Given the description of an element on the screen output the (x, y) to click on. 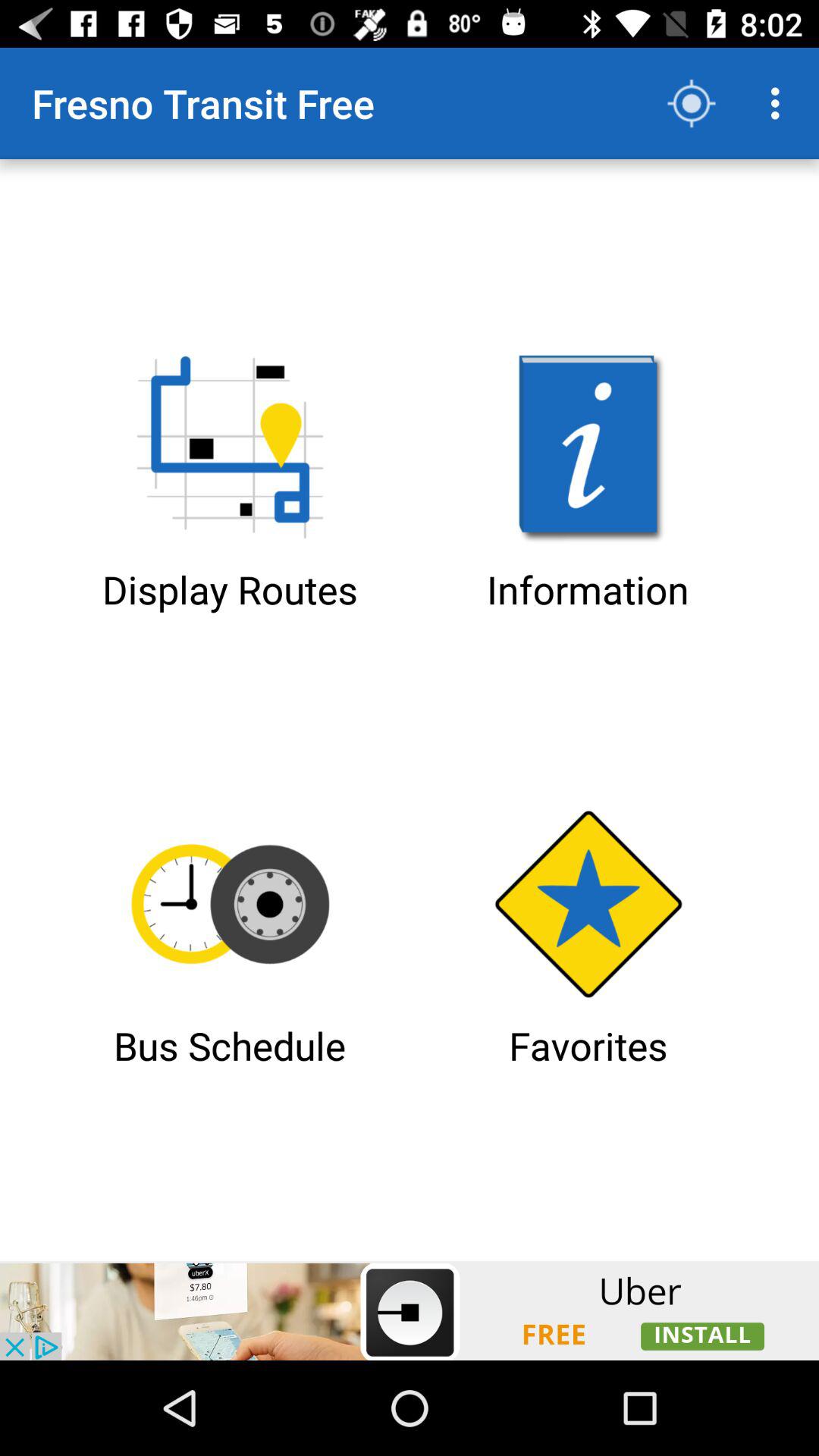
advertisement (409, 1310)
